Given the description of an element on the screen output the (x, y) to click on. 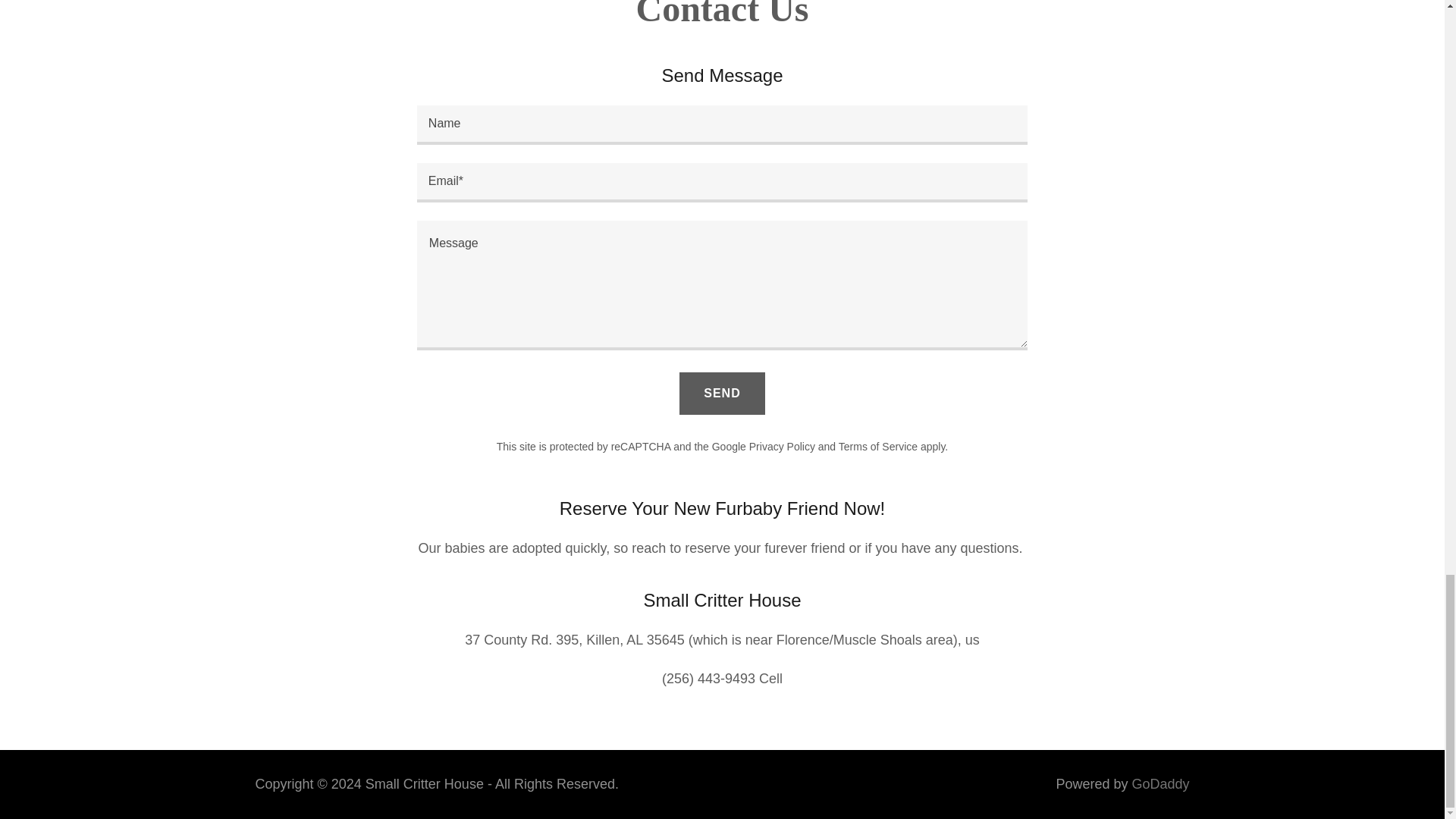
GoDaddy (1160, 783)
Privacy Policy (782, 446)
SEND (722, 393)
Terms of Service (877, 446)
